Given the description of an element on the screen output the (x, y) to click on. 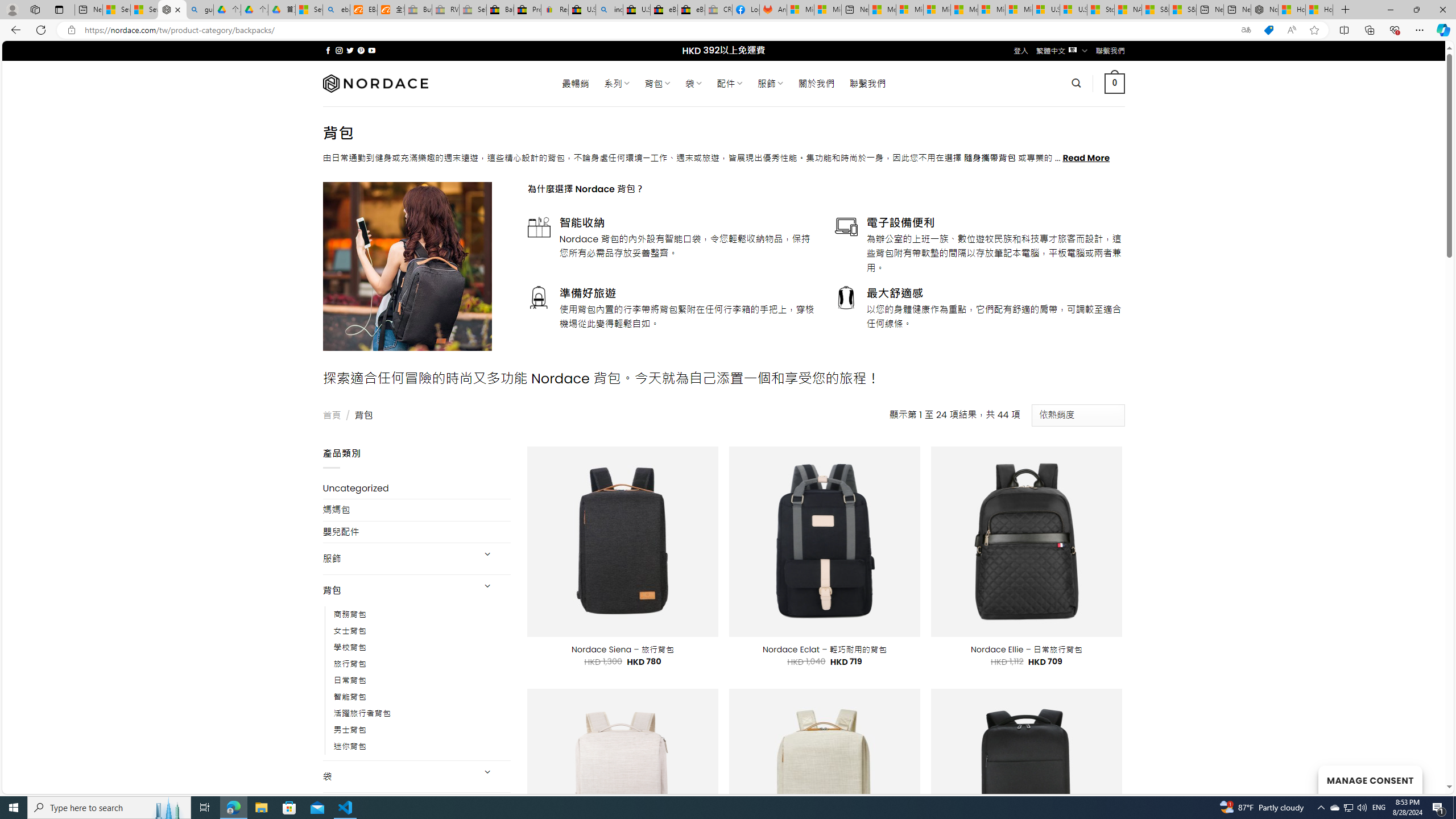
This site has coupons! Shopping in Microsoft Edge (1268, 29)
Microsoft account | Home (936, 9)
Uncategorized (416, 488)
